Given the description of an element on the screen output the (x, y) to click on. 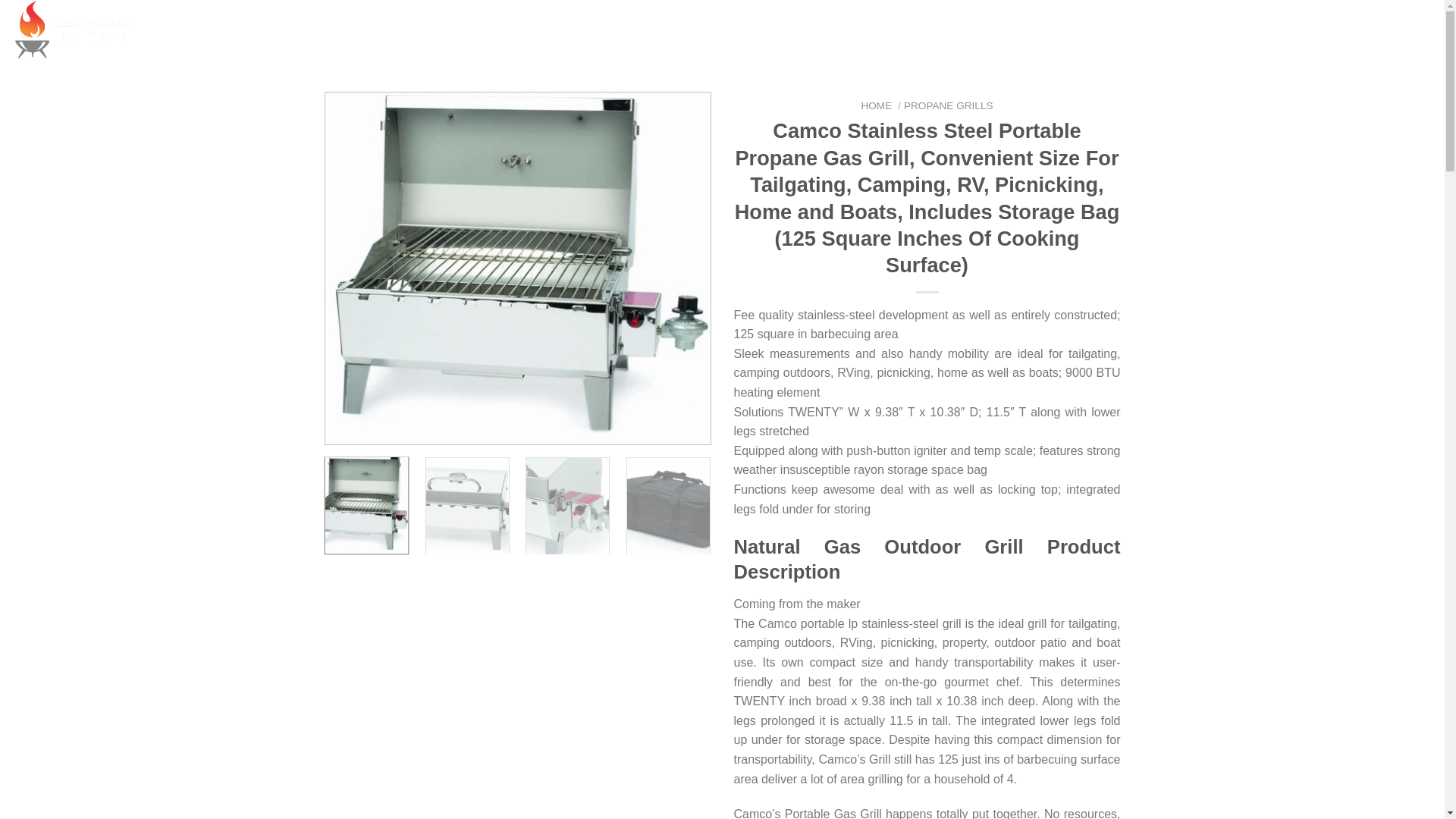
GRILLS (713, 30)
BBQ Grills On Sale - BBQ Grills On Sale (87, 30)
HOME (653, 30)
Follow on Facebook (564, 29)
SHOP (777, 30)
